Given the description of an element on the screen output the (x, y) to click on. 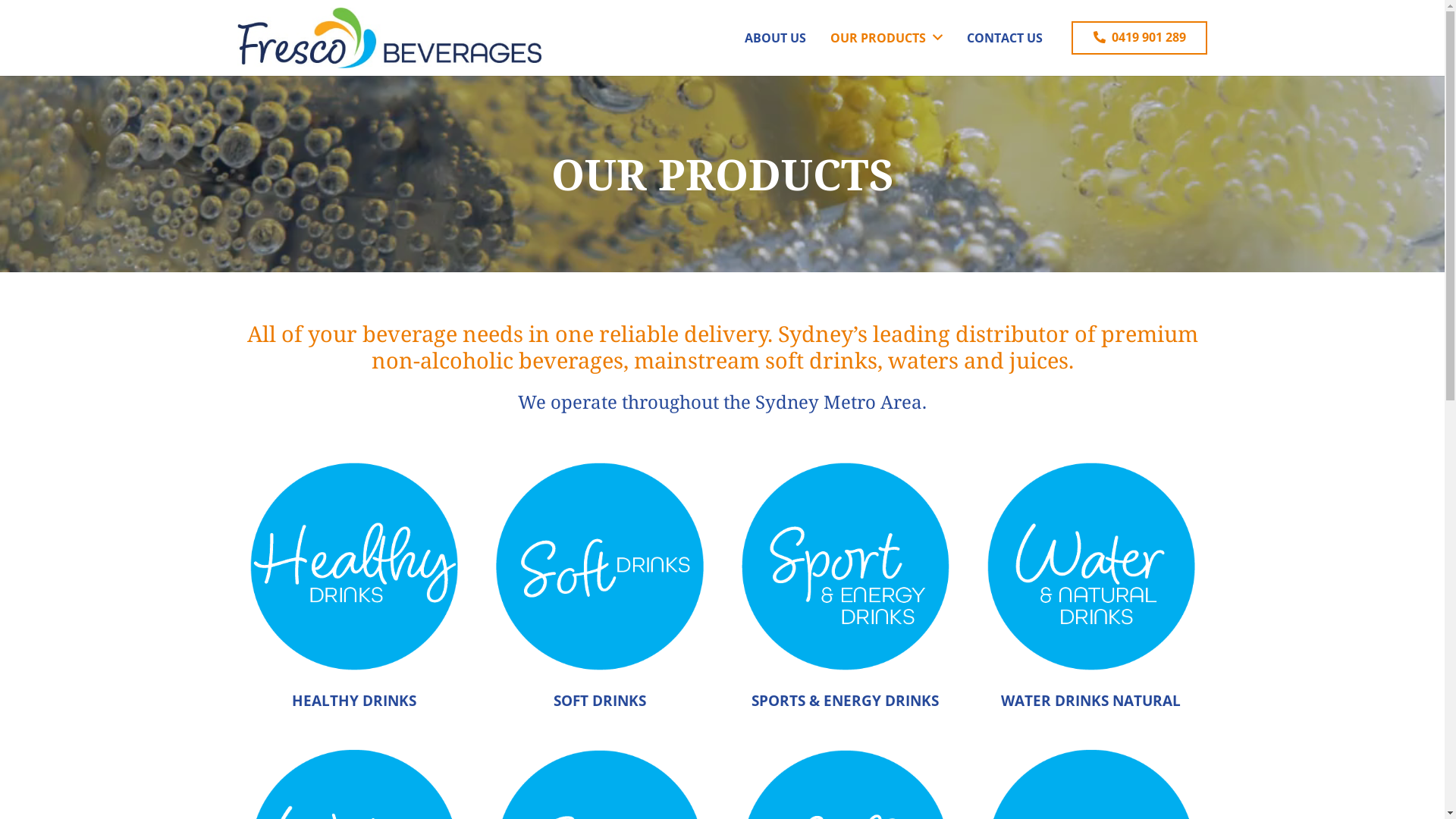
HEALTHY DRINKS Element type: text (353, 700)
ABOUT US Element type: text (775, 37)
CONTACT US Element type: text (1003, 37)
SPORTS & ENERGY DRINKS Element type: text (844, 700)
0419 901 289 Element type: text (1139, 38)
OUR PRODUCTS Element type: text (885, 37)
SOFT DRINKS Element type: text (599, 700)
WATER DRINKS NATURAL Element type: text (1090, 700)
